Given the description of an element on the screen output the (x, y) to click on. 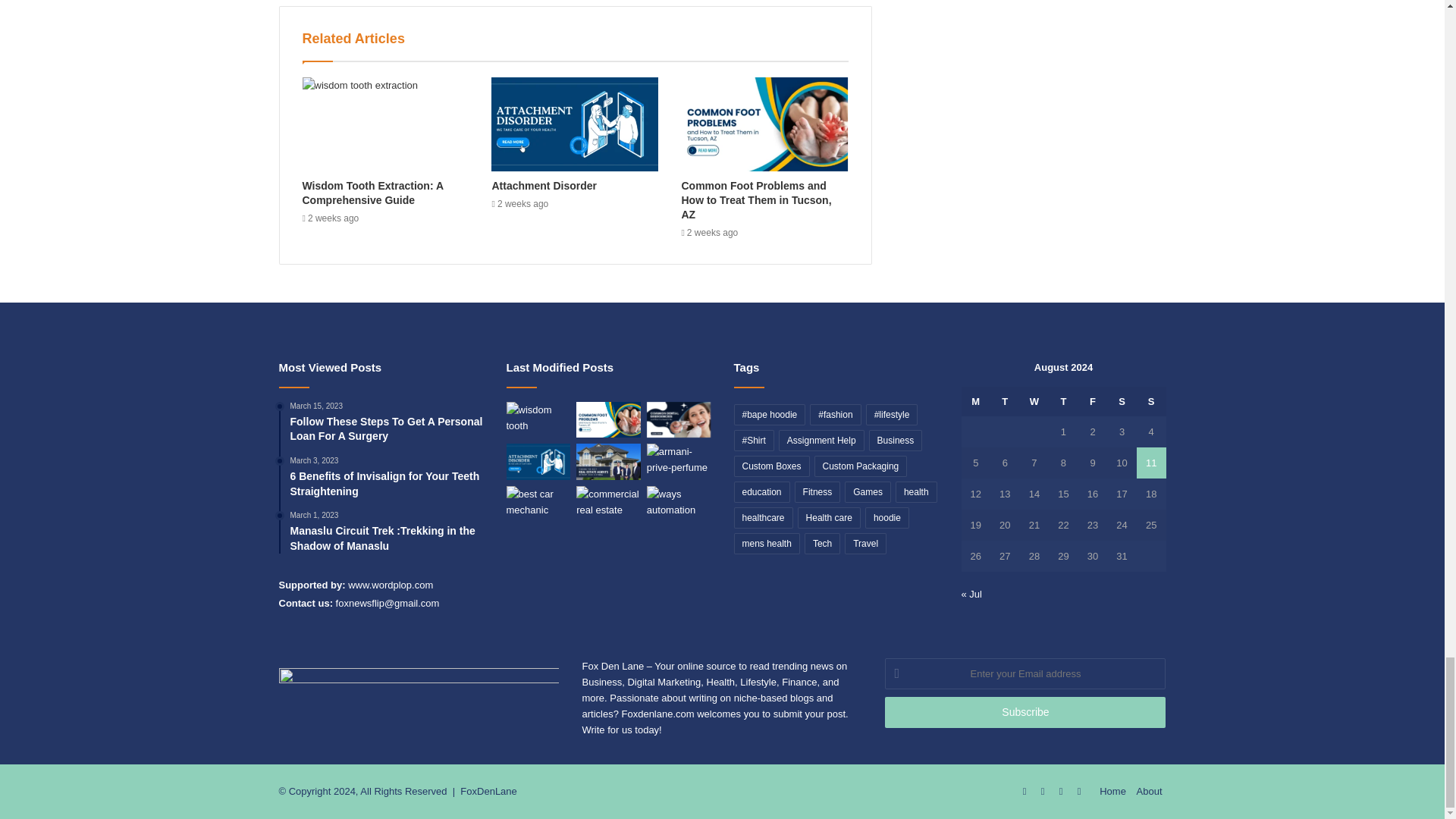
Monday (975, 401)
Subscribe (1025, 712)
Tuesday (1005, 401)
Wednesday (1034, 401)
